Given the description of an element on the screen output the (x, y) to click on. 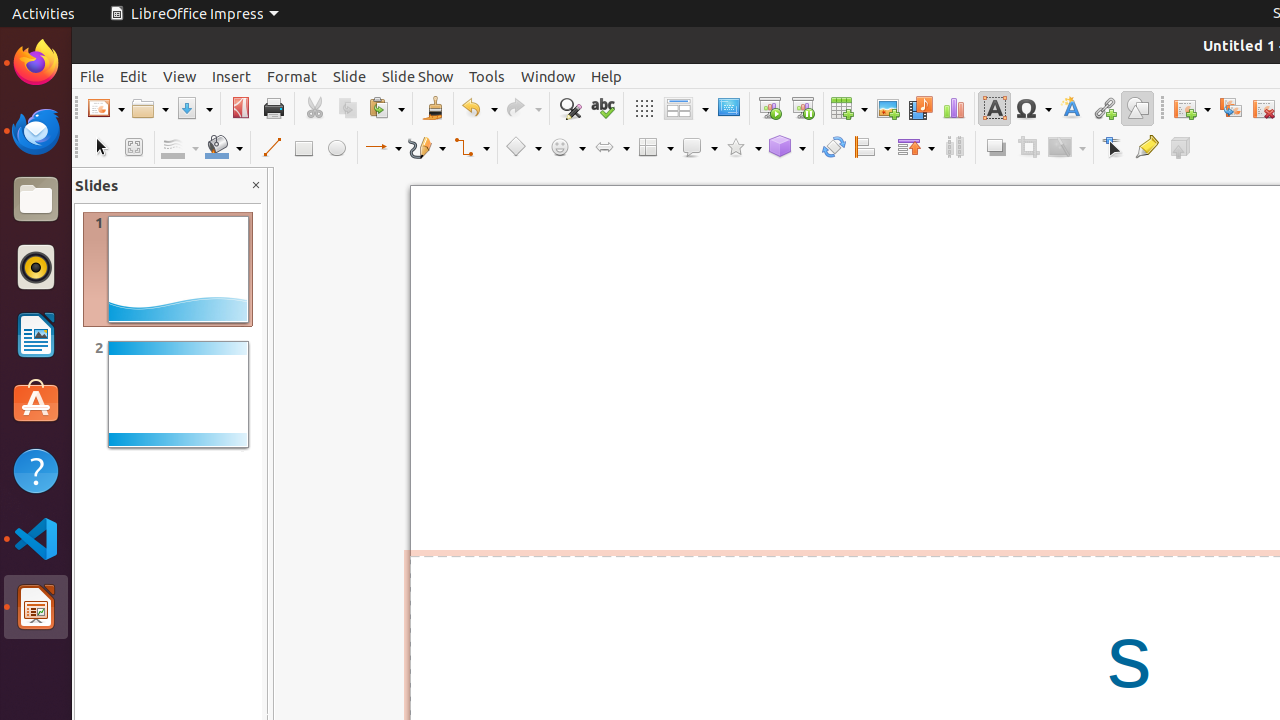
New Slide Element type: push-button (1192, 108)
LibreOffice Impress Element type: menu (193, 13)
Basic Shapes Element type: push-button (523, 147)
Table Element type: push-button (849, 108)
Clone Element type: push-button (432, 108)
